Given the description of an element on the screen output the (x, y) to click on. 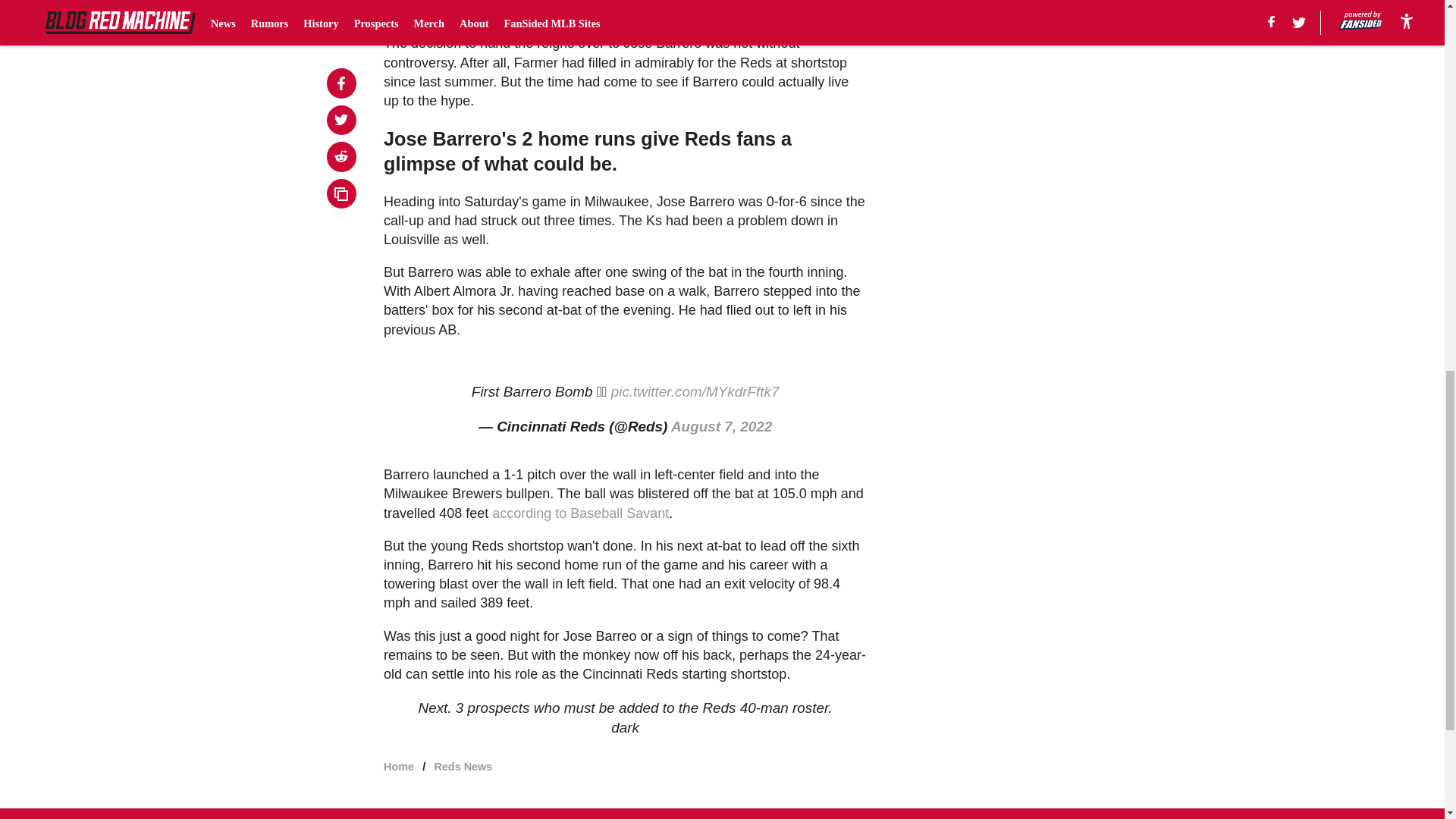
according to Baseball Savant (580, 513)
Reds News (462, 766)
Home (398, 766)
August 7, 2022 (721, 426)
